Given the description of an element on the screen output the (x, y) to click on. 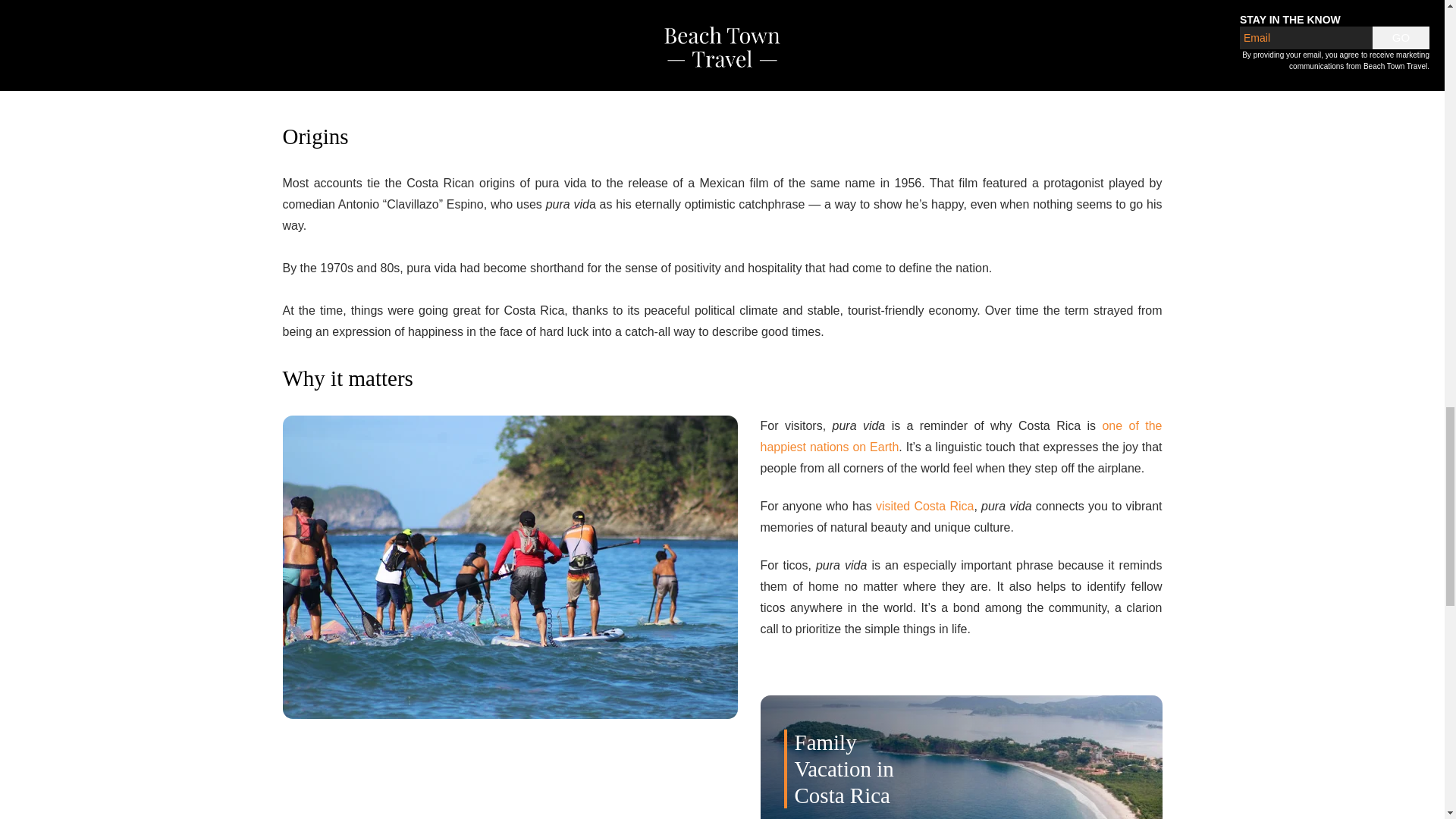
one of the happiest nations on Earth (960, 435)
HubSpot Video (722, 39)
visited Costa Rica (925, 505)
